Given the description of an element on the screen output the (x, y) to click on. 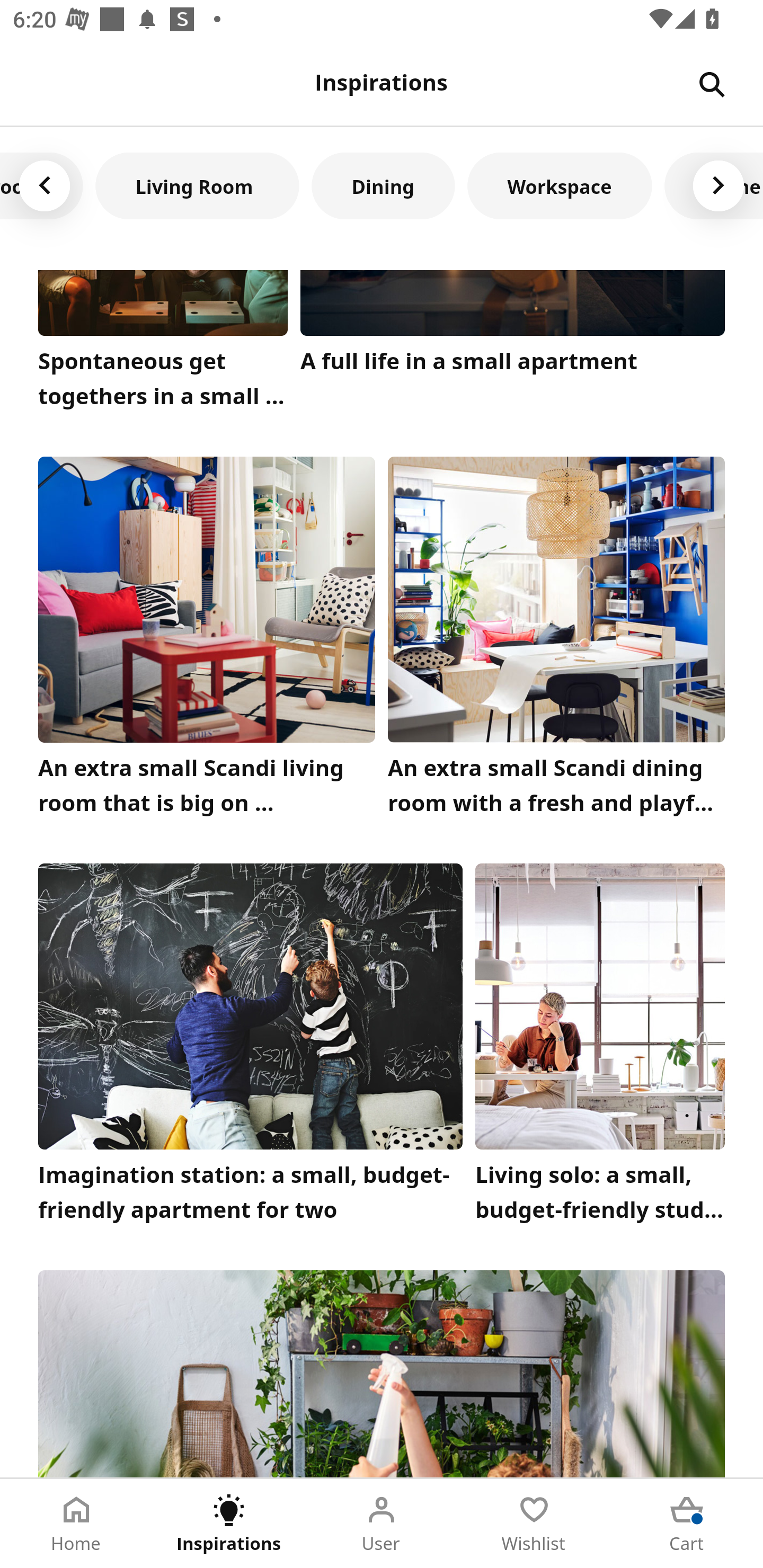
Living Room  (197, 185)
Dining (382, 185)
Workspace (558, 185)
Spontaneous get togethers in a small apartment (162, 343)
A full life in a small apartment (512, 343)
Home
Tab 1 of 5 (76, 1522)
Inspirations
Tab 2 of 5 (228, 1522)
User
Tab 3 of 5 (381, 1522)
Wishlist
Tab 4 of 5 (533, 1522)
Cart
Tab 5 of 5 (686, 1522)
